Given the description of an element on the screen output the (x, y) to click on. 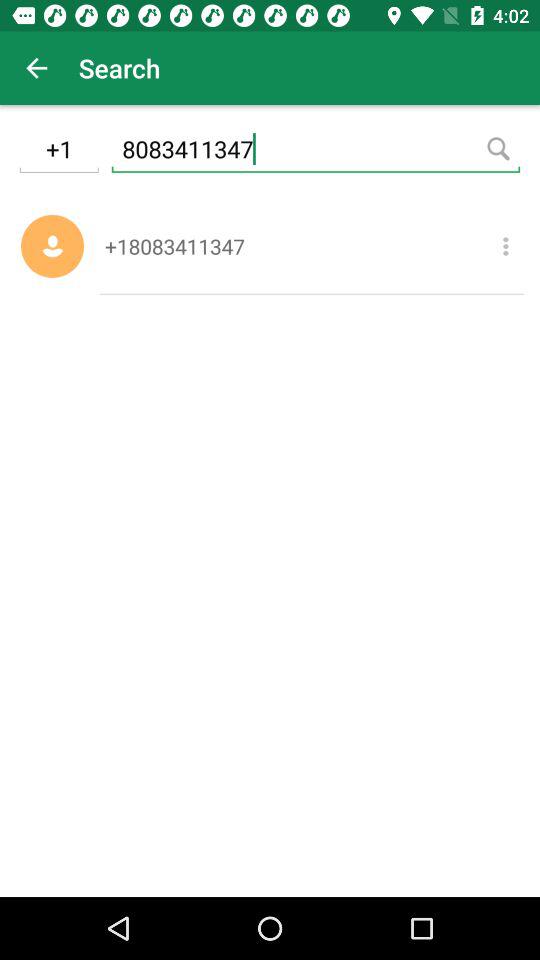
tap icon above the +1 (36, 68)
